Given the description of an element on the screen output the (x, y) to click on. 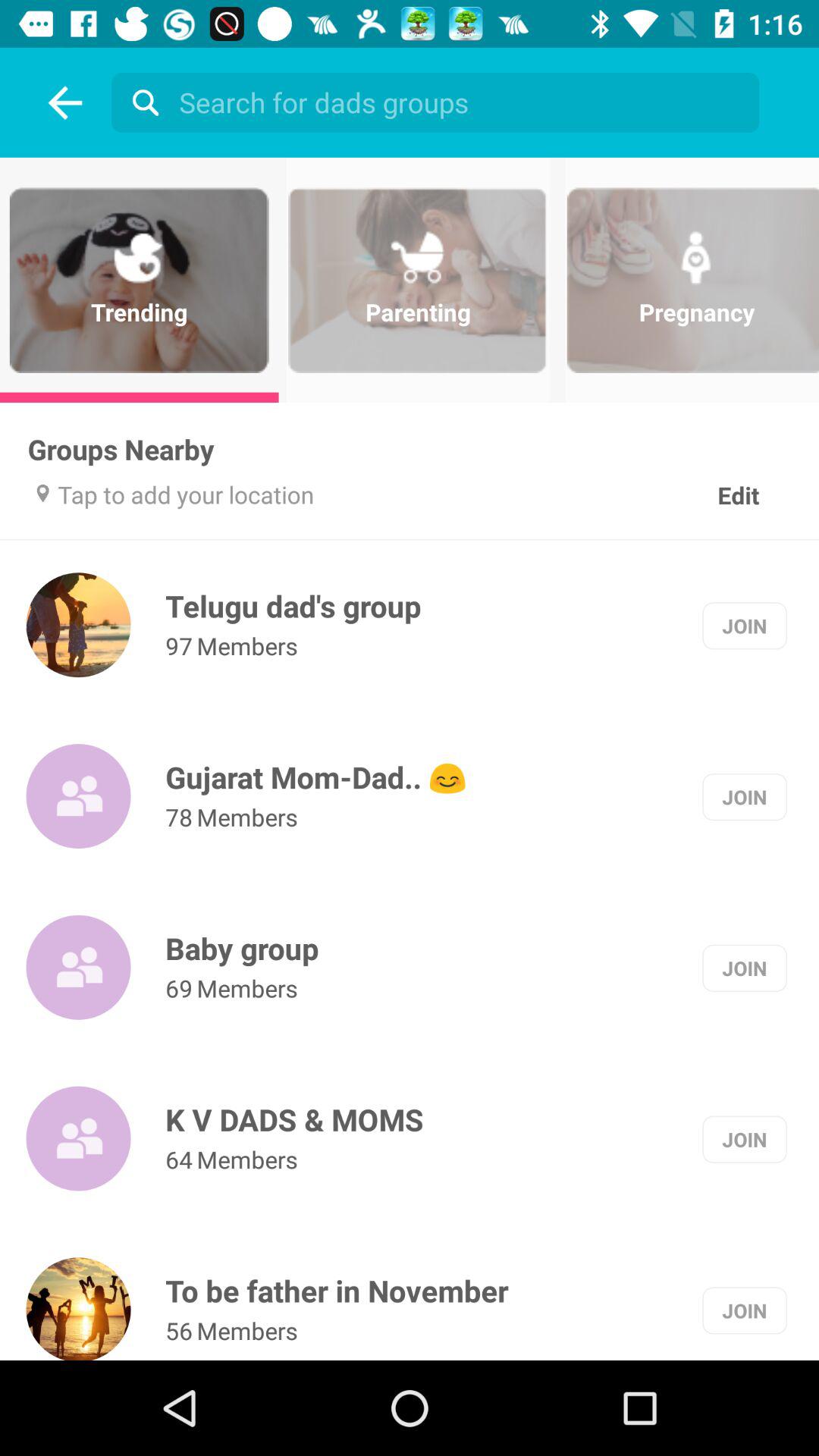
select the group symbol beside gujarat momdad (78, 796)
click on join button which is on the right side of gujarat momdad (744, 797)
click on the join button which is to the right side of baby group option (744, 967)
go to search (141, 102)
click on the option above parenting label (439, 101)
